Given the description of an element on the screen output the (x, y) to click on. 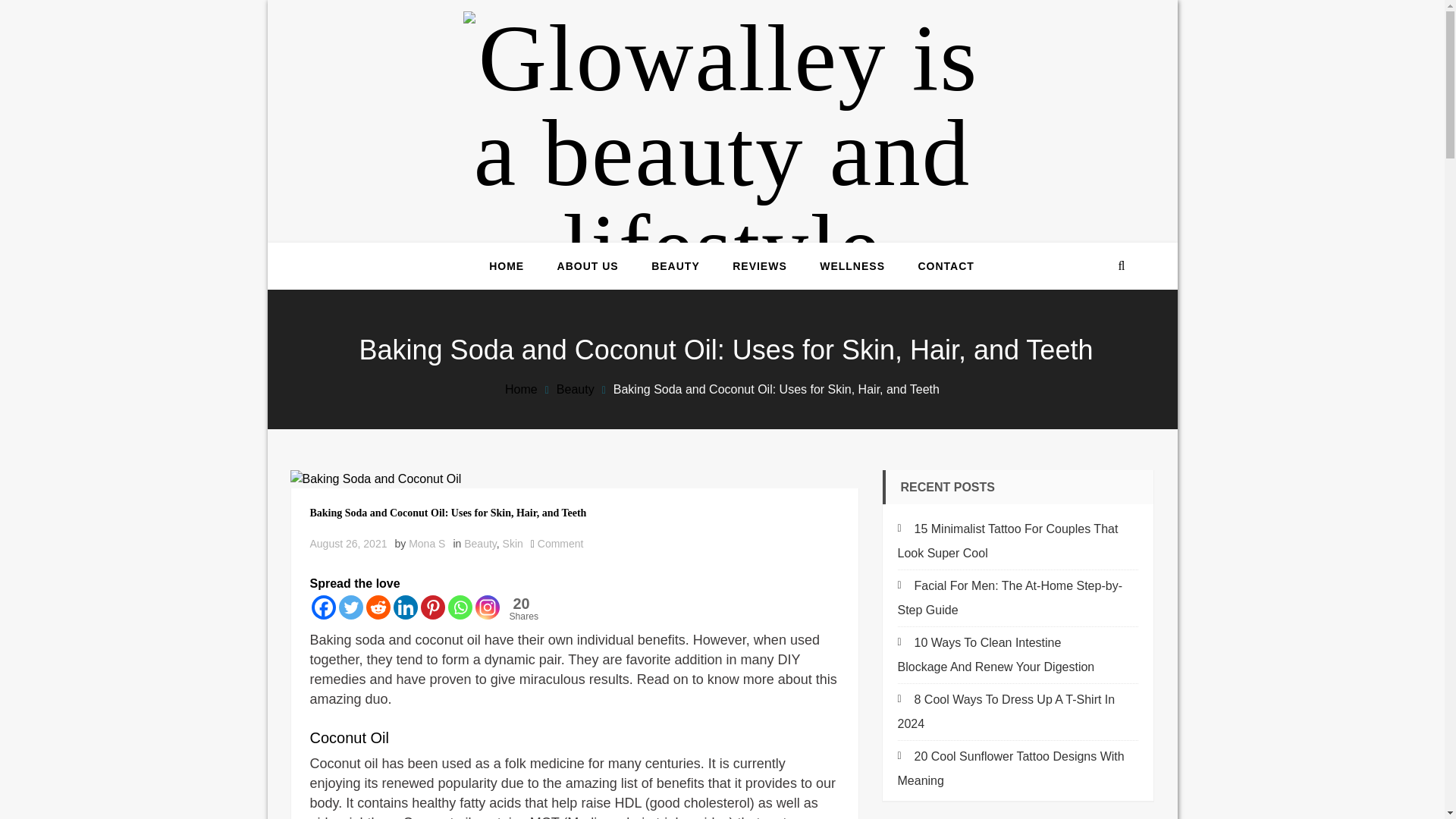
Skin (512, 543)
Pinterest (432, 607)
REVIEWS (759, 266)
Mona S (427, 543)
Linkedin (404, 607)
Instagram (486, 607)
Facebook (322, 607)
HOME (506, 266)
Total Shares (521, 608)
ABOUT US (587, 266)
